Given the description of an element on the screen output the (x, y) to click on. 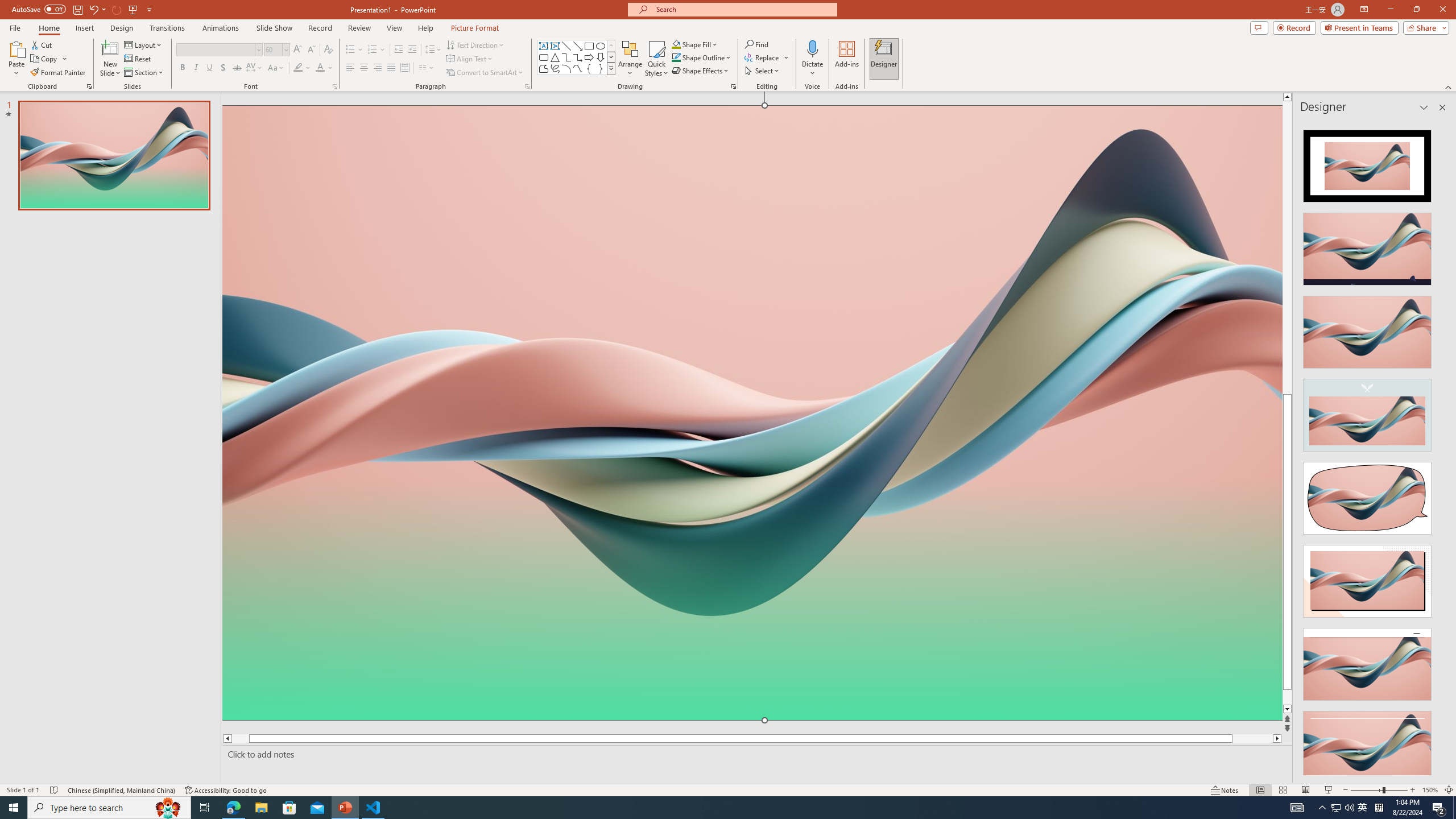
Recommended Design: Design Idea (1366, 162)
Decorative Locked (752, 579)
